Given the description of an element on the screen output the (x, y) to click on. 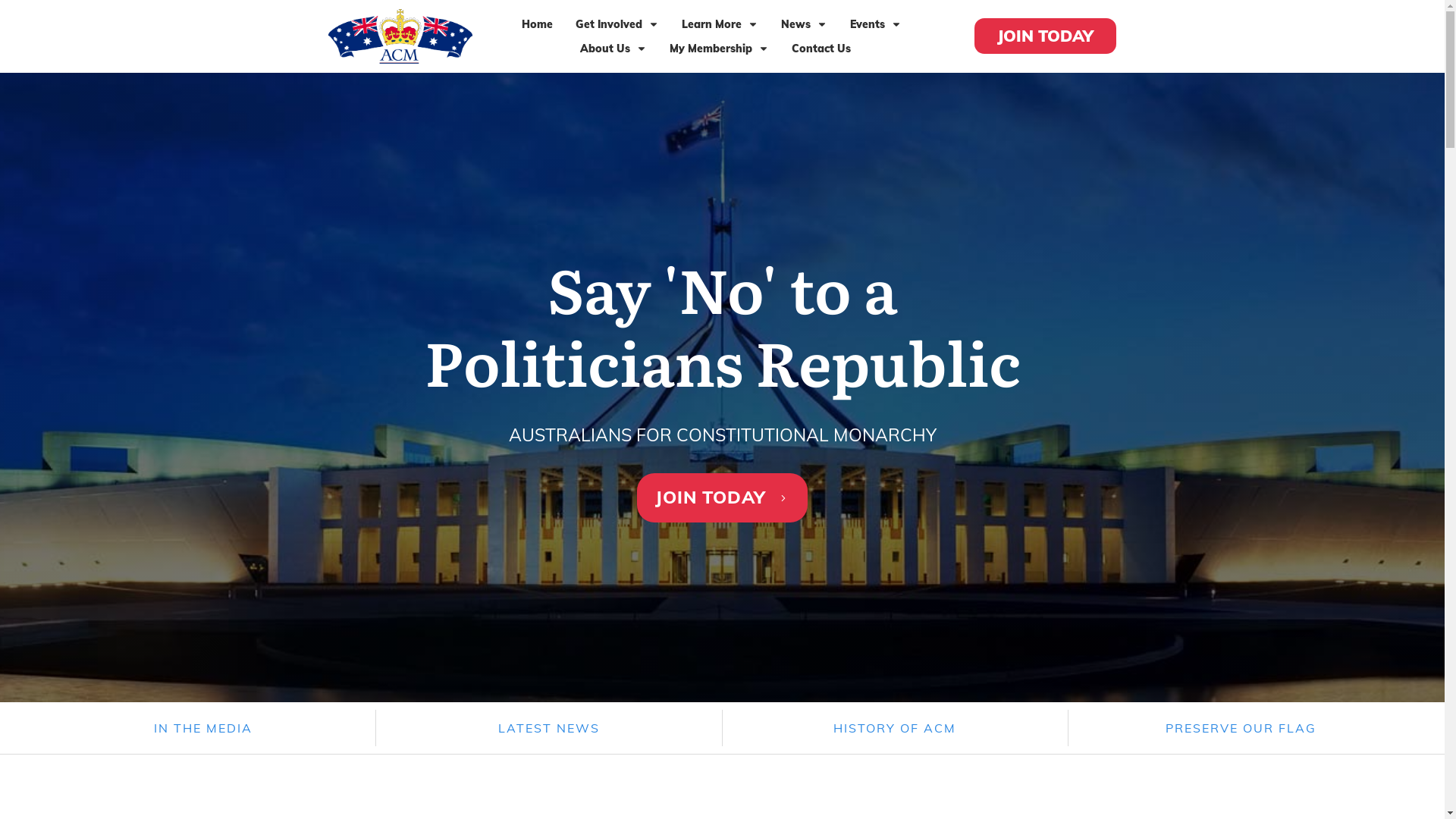
LATEST NEWS Element type: text (548, 727)
JOIN TODAY Element type: text (722, 497)
Contact Us Element type: text (820, 48)
HISTORY OF ACM Element type: text (894, 727)
About Us Element type: text (613, 48)
IN THE MEDIA Element type: text (202, 727)
My Membership Element type: text (718, 48)
PRESERVE OUR FLAG Element type: text (1240, 727)
News Element type: text (804, 23)
Events Element type: text (875, 23)
Get Involved Element type: text (616, 23)
Home Element type: text (536, 23)
JOIN TODAY Element type: text (1045, 35)
Learn More Element type: text (719, 23)
